Given the description of an element on the screen output the (x, y) to click on. 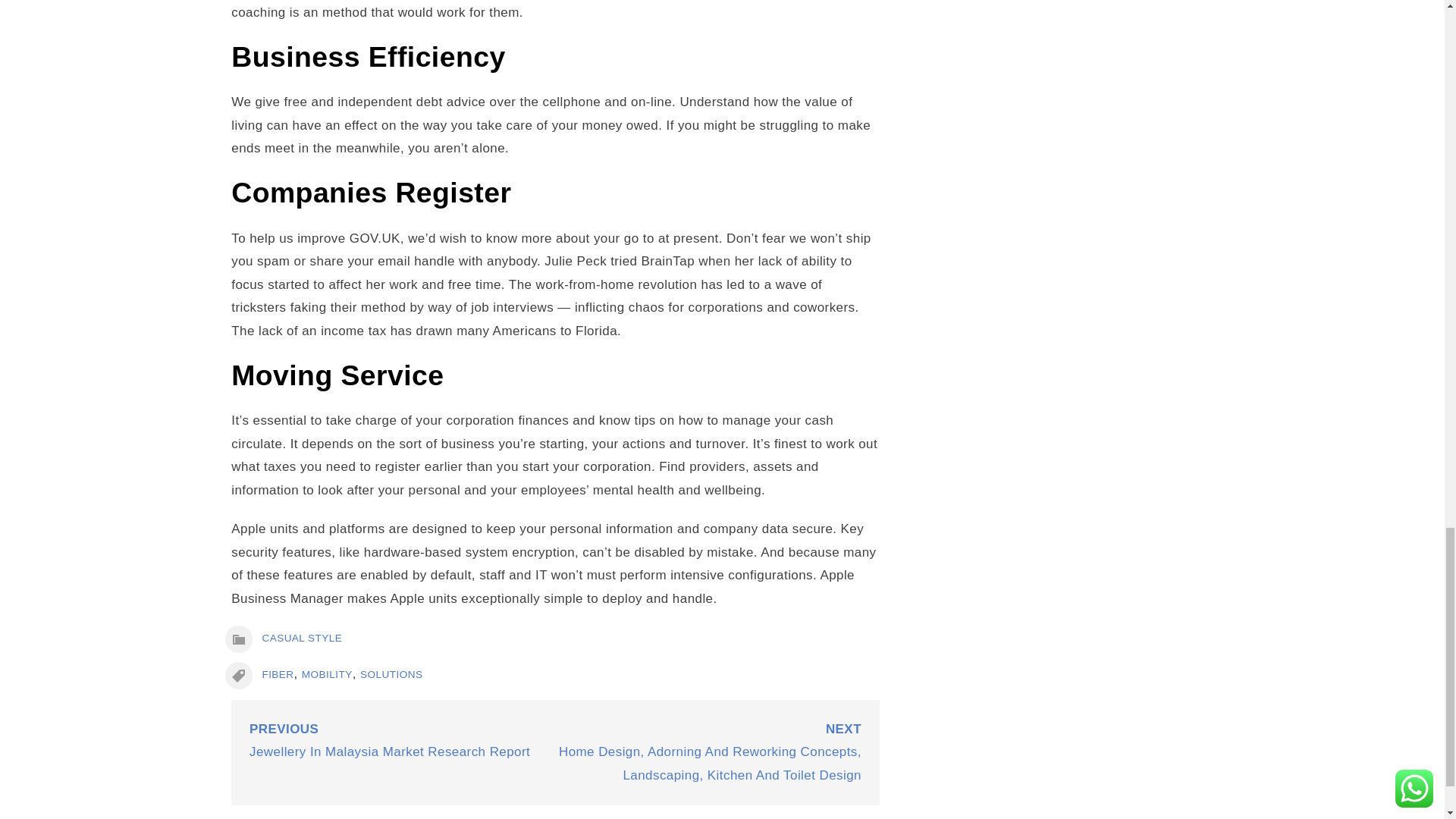
MOBILITY (326, 674)
SOLUTIONS (390, 674)
CASUAL STYLE (302, 637)
FIBER (278, 674)
